Given the description of an element on the screen output the (x, y) to click on. 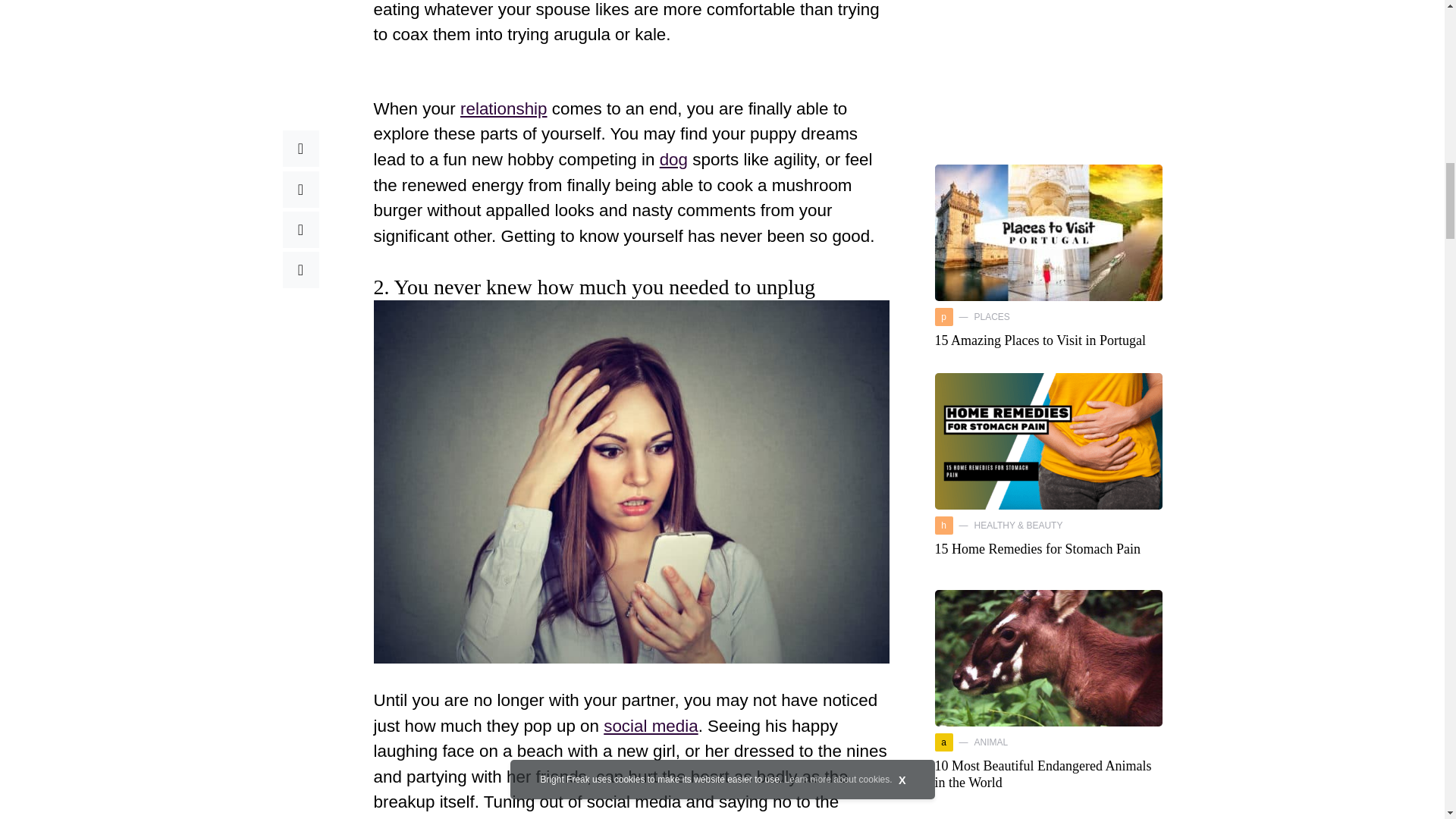
dog (673, 158)
relationship (503, 108)
social media (650, 725)
